Given the description of an element on the screen output the (x, y) to click on. 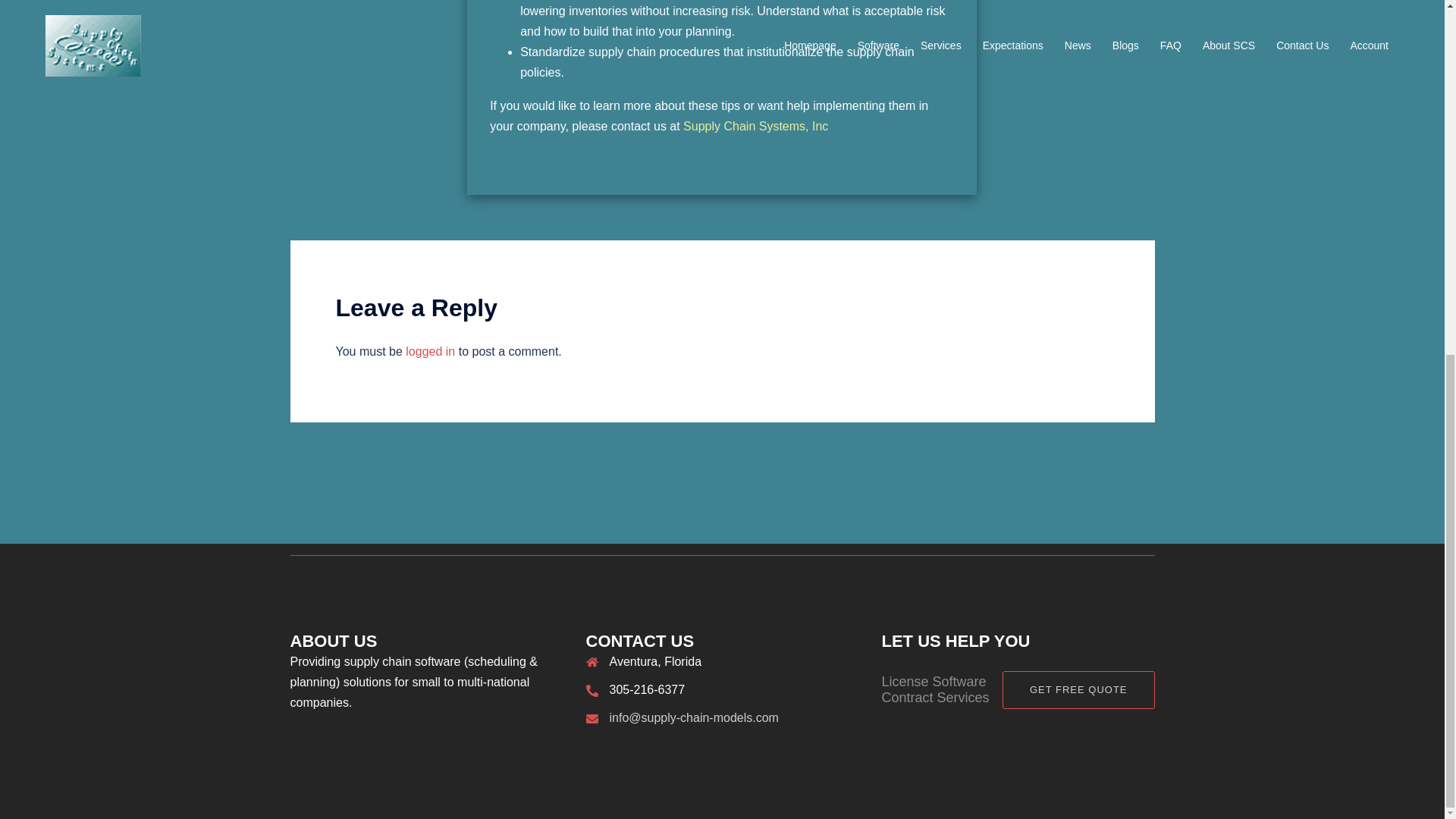
Supply Chain Systems, Inc (755, 125)
GET FREE QUOTE (1078, 689)
logged in (430, 350)
